Given the description of an element on the screen output the (x, y) to click on. 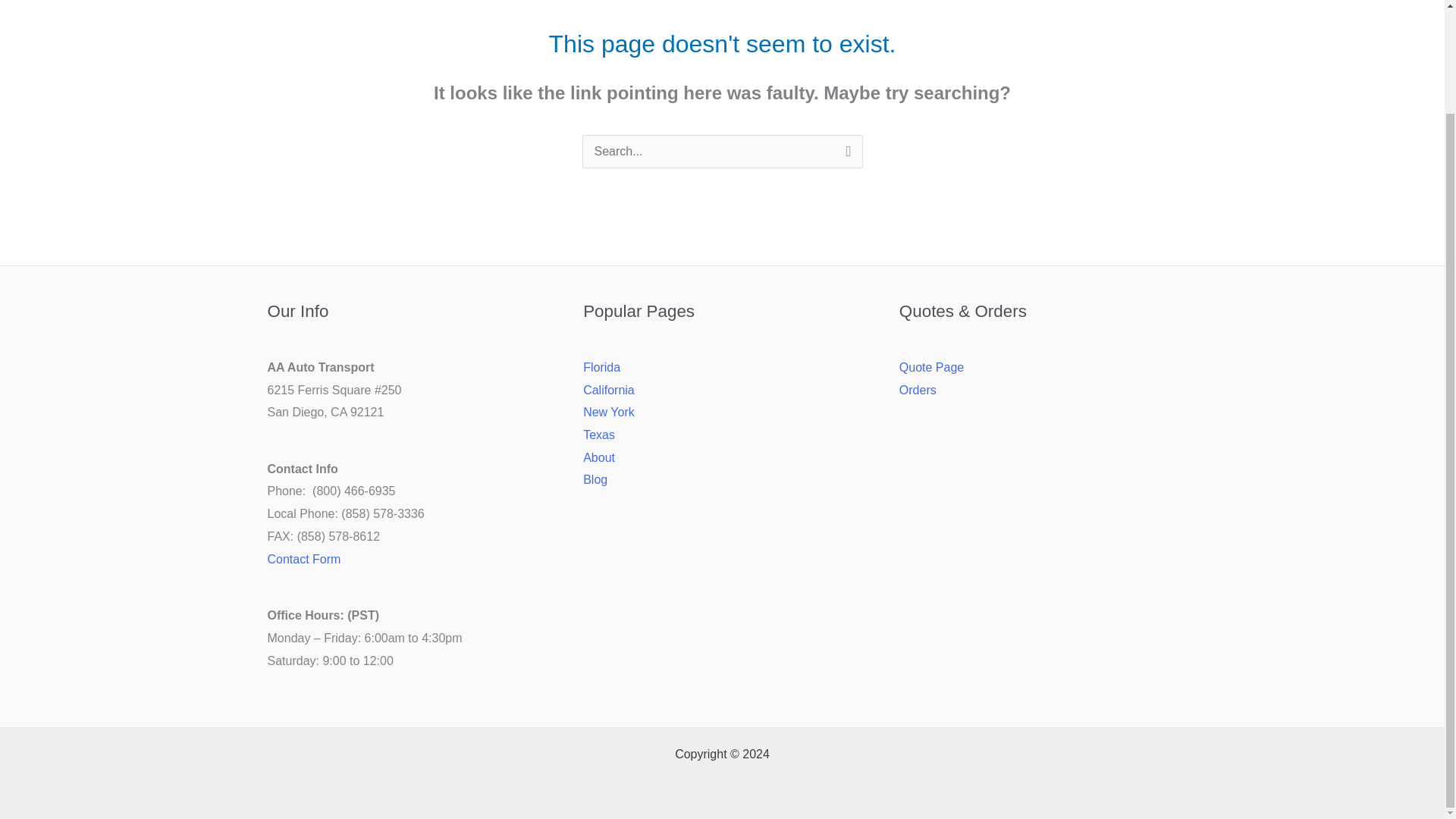
Search (844, 156)
Search (844, 156)
